Given the description of an element on the screen output the (x, y) to click on. 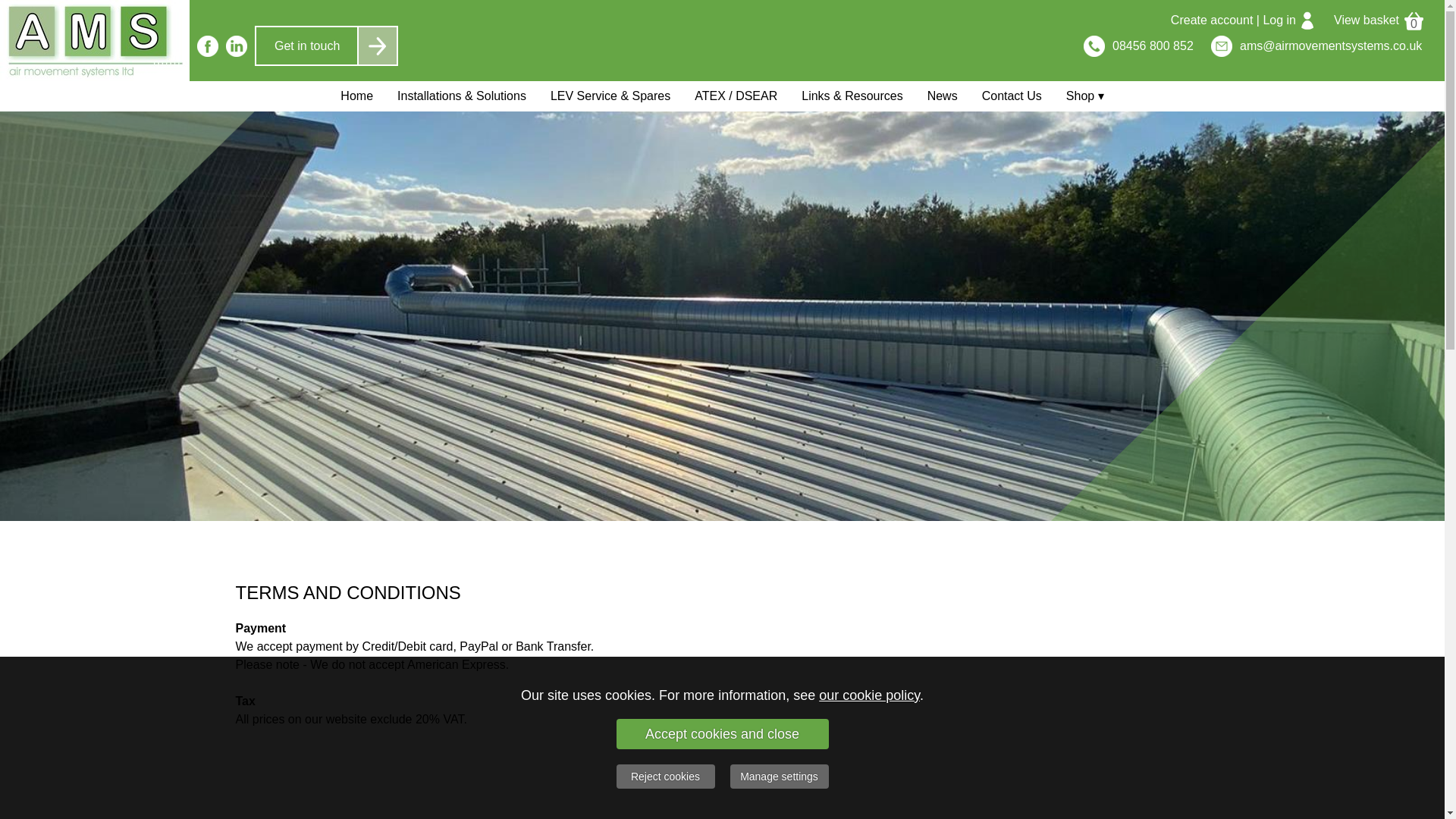
News (942, 96)
Get in touch (325, 45)
0 (1414, 20)
Log in (1278, 19)
Home (357, 96)
Create account (1211, 19)
Contact Us (1011, 96)
View basket (1366, 19)
Shop (1085, 96)
